Given the description of an element on the screen output the (x, y) to click on. 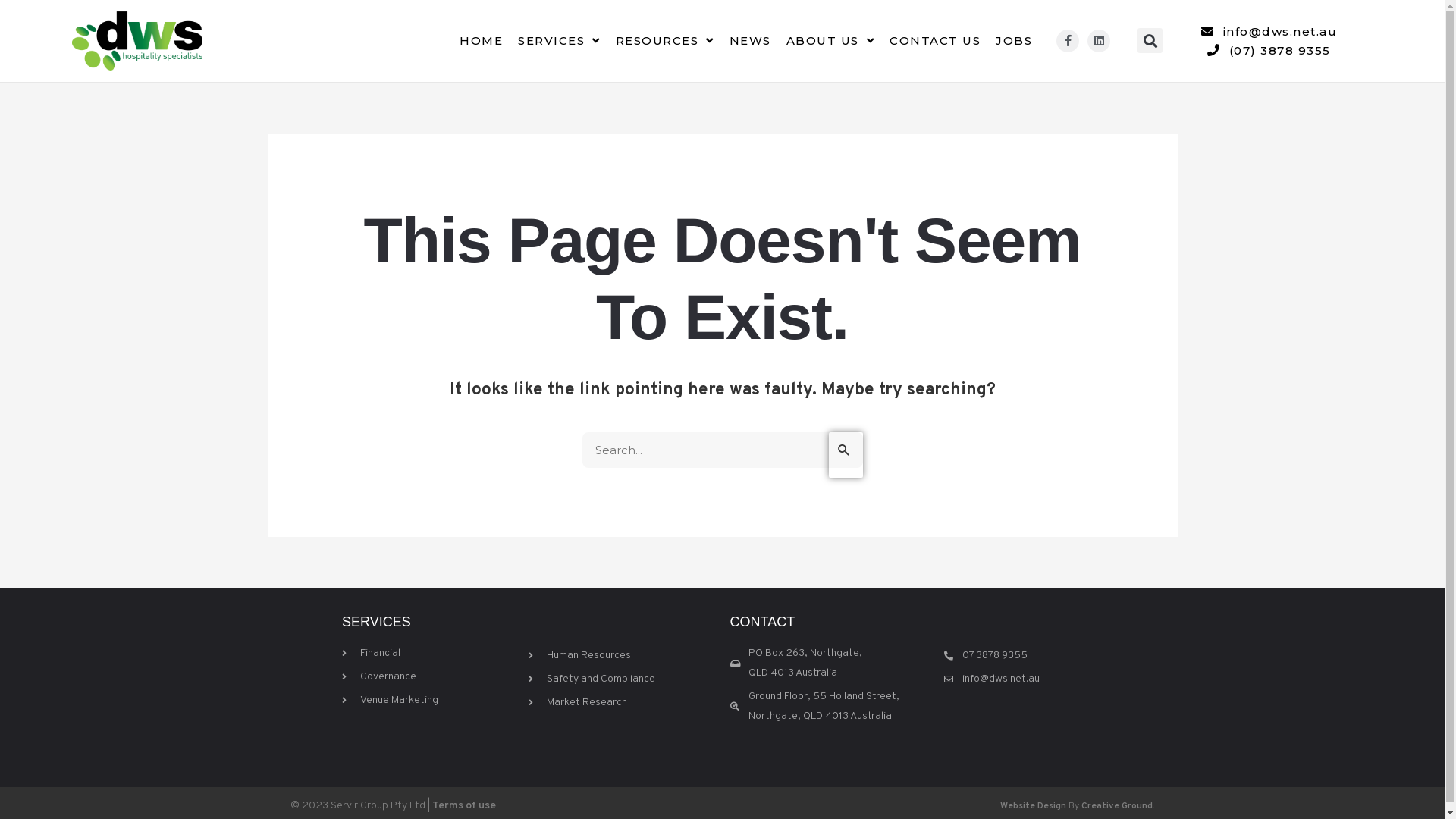
ABOUT US Element type: text (830, 40)
Search Element type: text (845, 454)
07 3878 9355 Element type: text (1026, 655)
Market Research Element type: text (625, 702)
Human Resources Element type: text (625, 655)
SERVICES Element type: text (559, 40)
Terms of use Element type: text (463, 805)
info@dws.net.au Element type: text (1026, 679)
Facebook-f Element type: text (1067, 40)
CONTACT US Element type: text (934, 40)
(07) 3878 9355 Element type: text (1268, 49)
Safety and Compliance Element type: text (625, 679)
Venue Marketing Element type: text (431, 700)
Creative Ground. Element type: text (1117, 806)
HOME Element type: text (480, 40)
Governance Element type: text (431, 677)
info@dws.net.au Element type: text (1268, 30)
JOBS Element type: text (1013, 40)
Website Design Element type: text (1032, 806)
Linkedin Element type: text (1098, 40)
Financial Element type: text (431, 653)
RESOURCES Element type: text (664, 40)
NEWS Element type: text (749, 40)
